Given the description of an element on the screen output the (x, y) to click on. 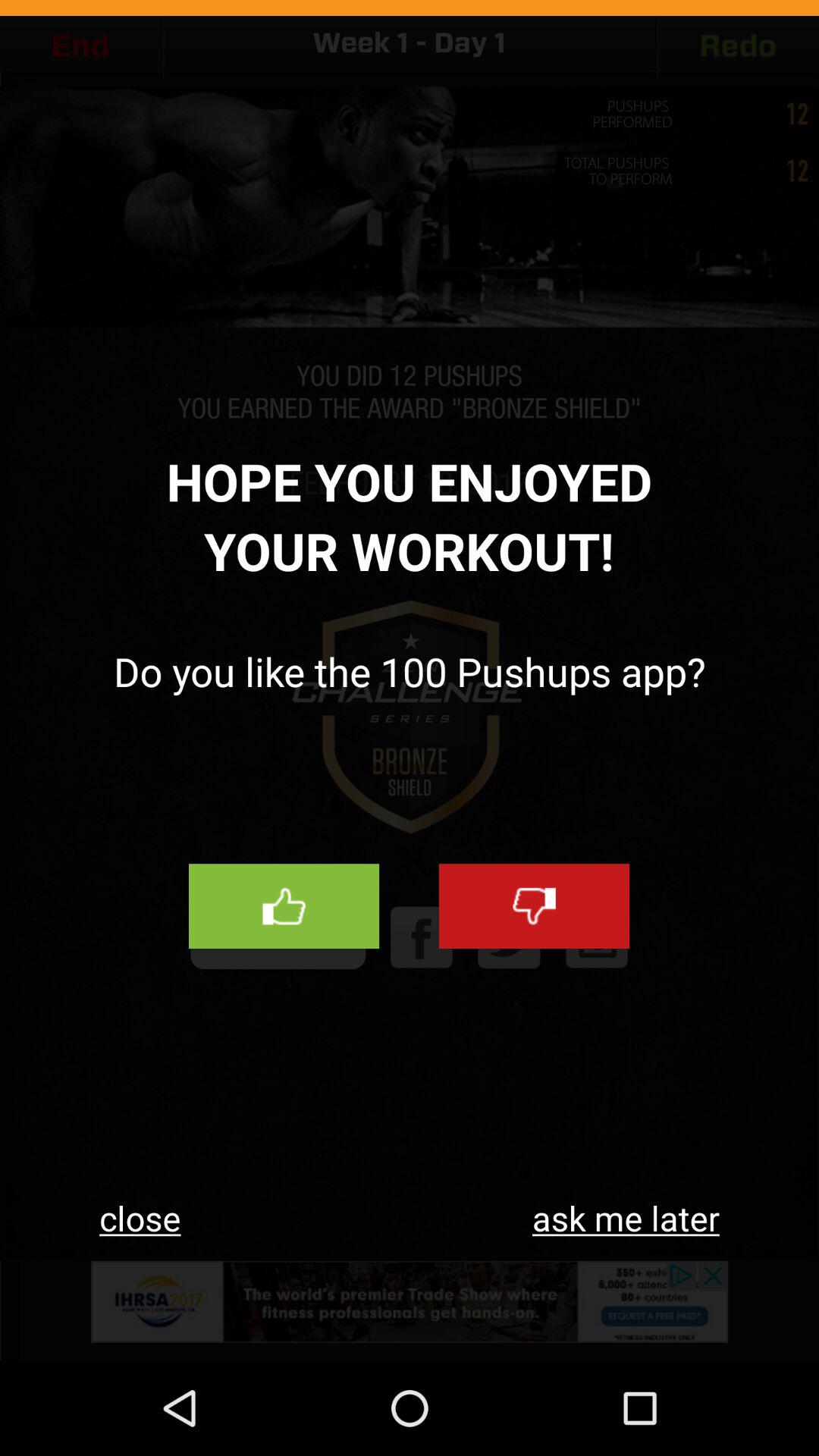
like us (283, 905)
